Given the description of an element on the screen output the (x, y) to click on. 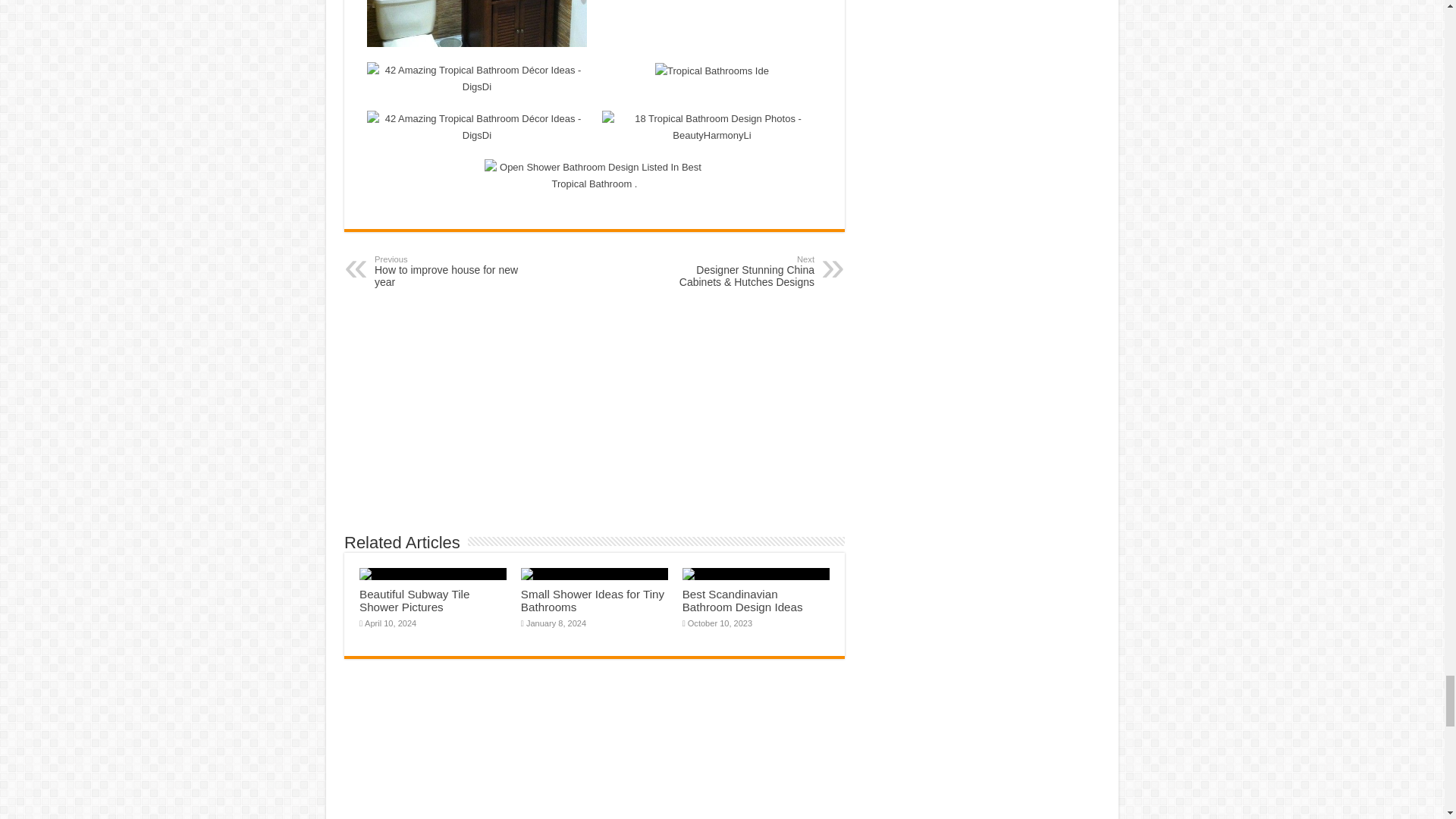
Best Scandinavian Bathroom Design Ideas (742, 600)
Beautiful Subway Tile Shower Pictures (451, 271)
Small Shower Ideas for Tiny Bathrooms (413, 600)
